Given the description of an element on the screen output the (x, y) to click on. 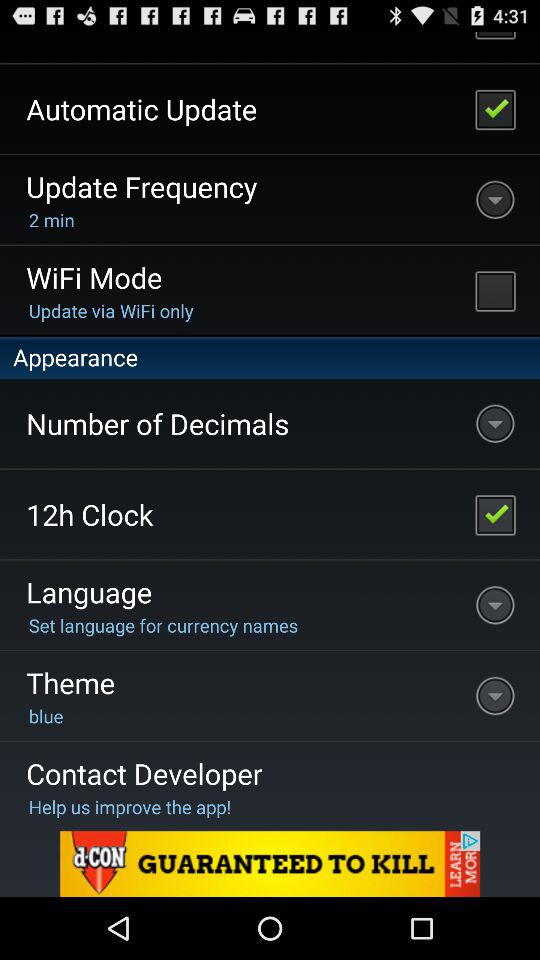
go to advertising partner (270, 864)
